Given the description of an element on the screen output the (x, y) to click on. 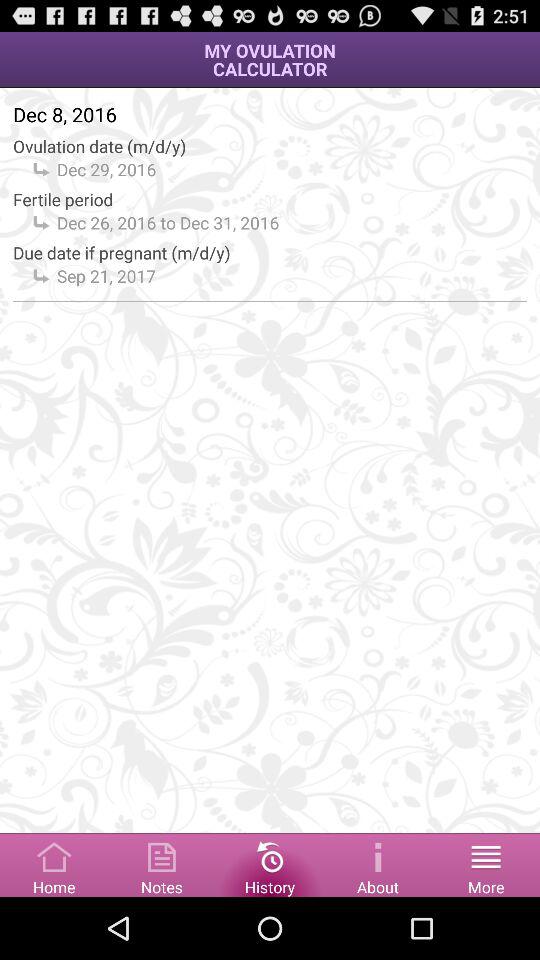
about (378, 864)
